Given the description of an element on the screen output the (x, y) to click on. 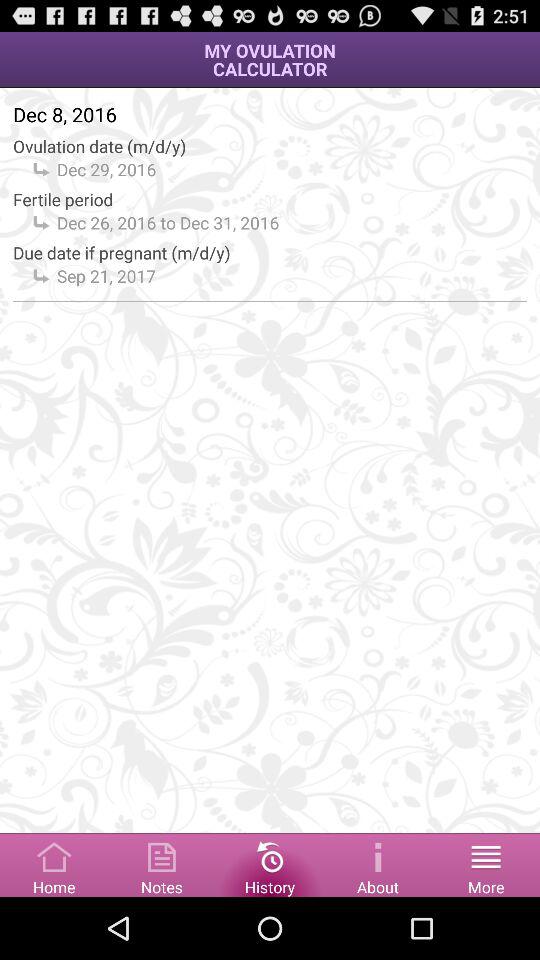
about (378, 864)
